Given the description of an element on the screen output the (x, y) to click on. 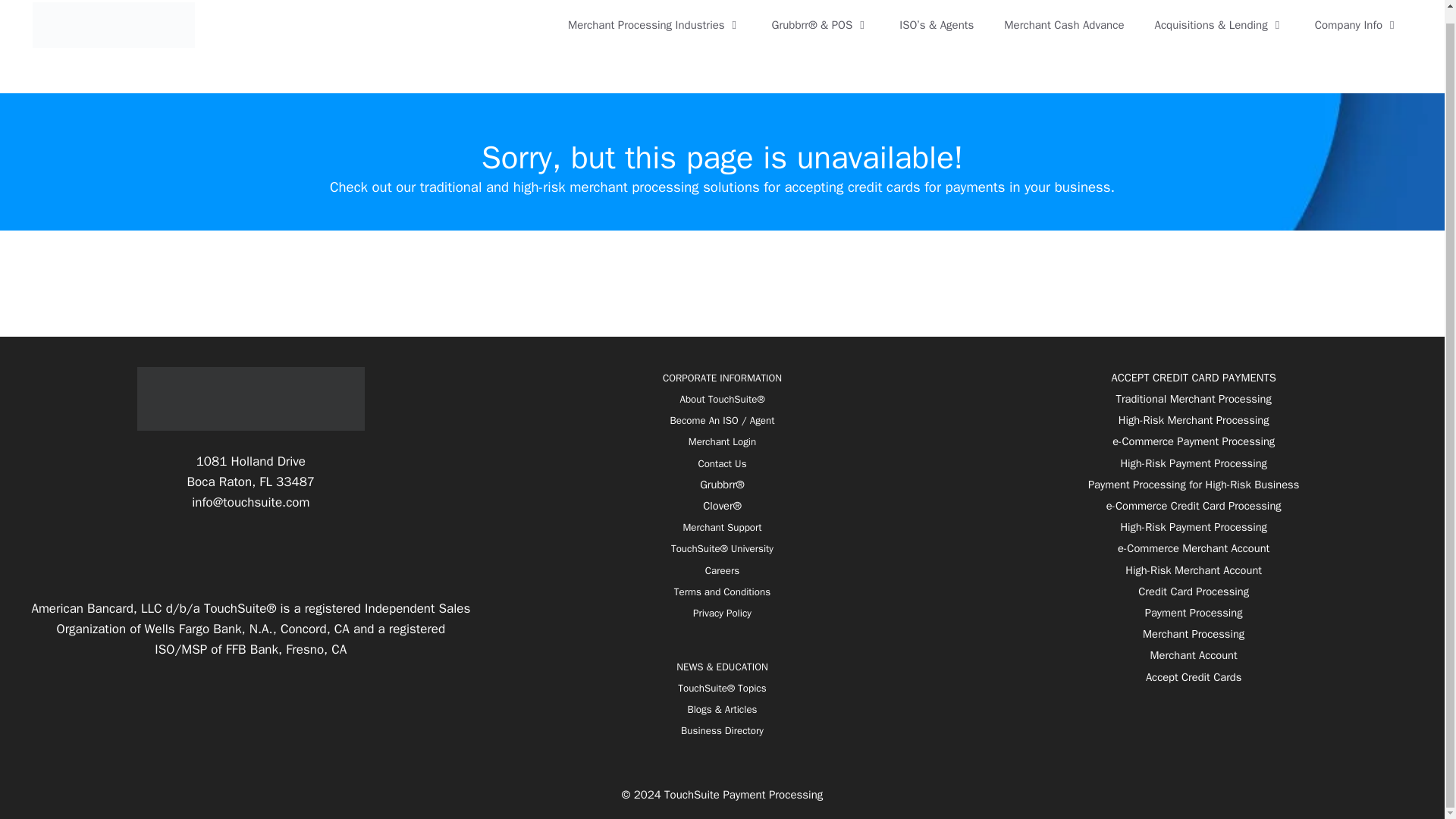
Company Info (1356, 24)
Merchant Cash Advance (1063, 24)
Merchant Processing Industries (655, 24)
Merchant Login (721, 440)
